Given the description of an element on the screen output the (x, y) to click on. 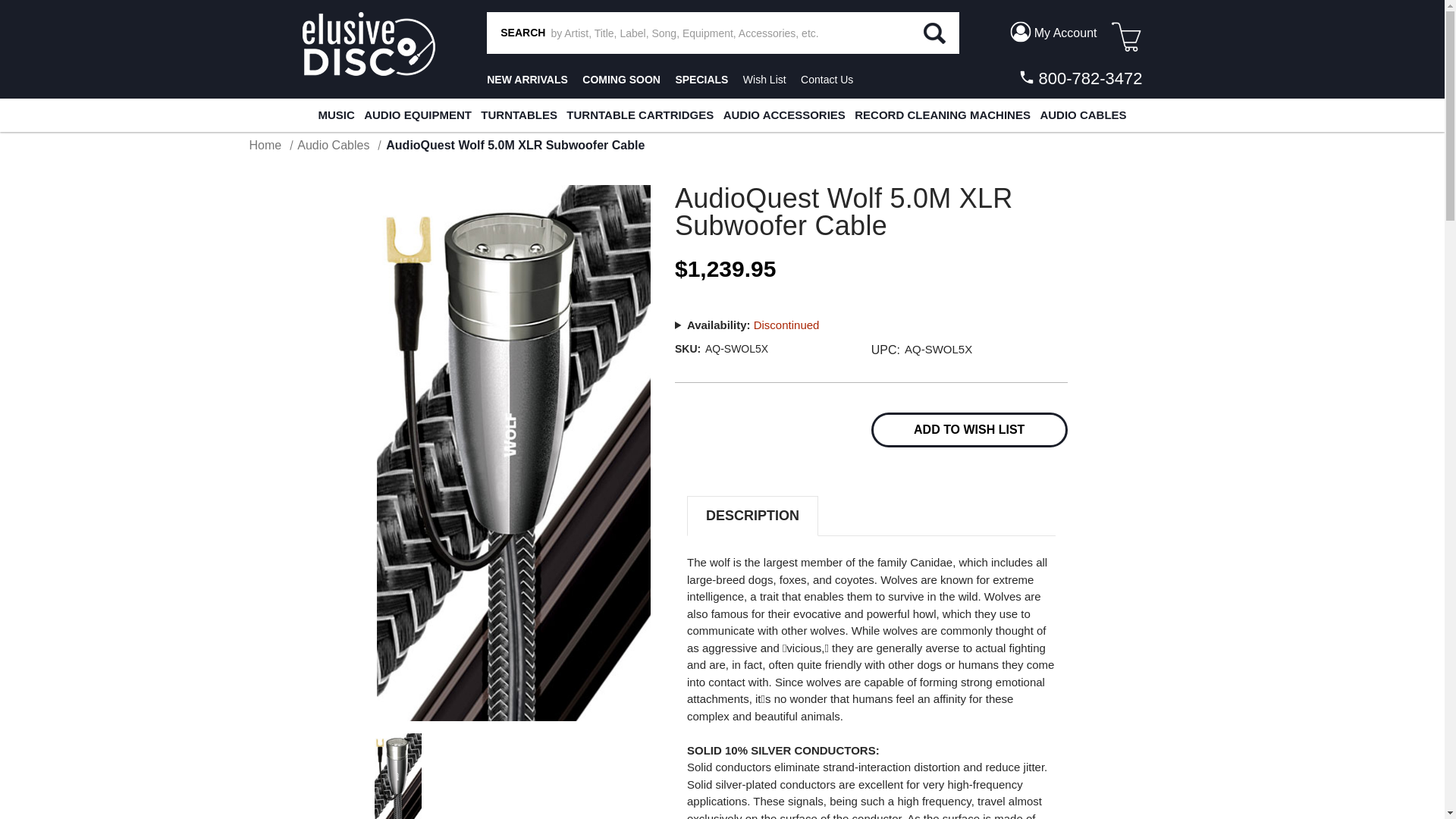
Elusive Disc (367, 44)
800-782-3472 (1077, 78)
COMING SOON (621, 79)
  My Account (1052, 32)
Wish List (764, 79)
Contact Us (826, 79)
MUSIC (335, 114)
PayPal Message 1 (871, 305)
NEW ARRIVALS (526, 79)
SPECIALS (701, 79)
